Given the description of an element on the screen output the (x, y) to click on. 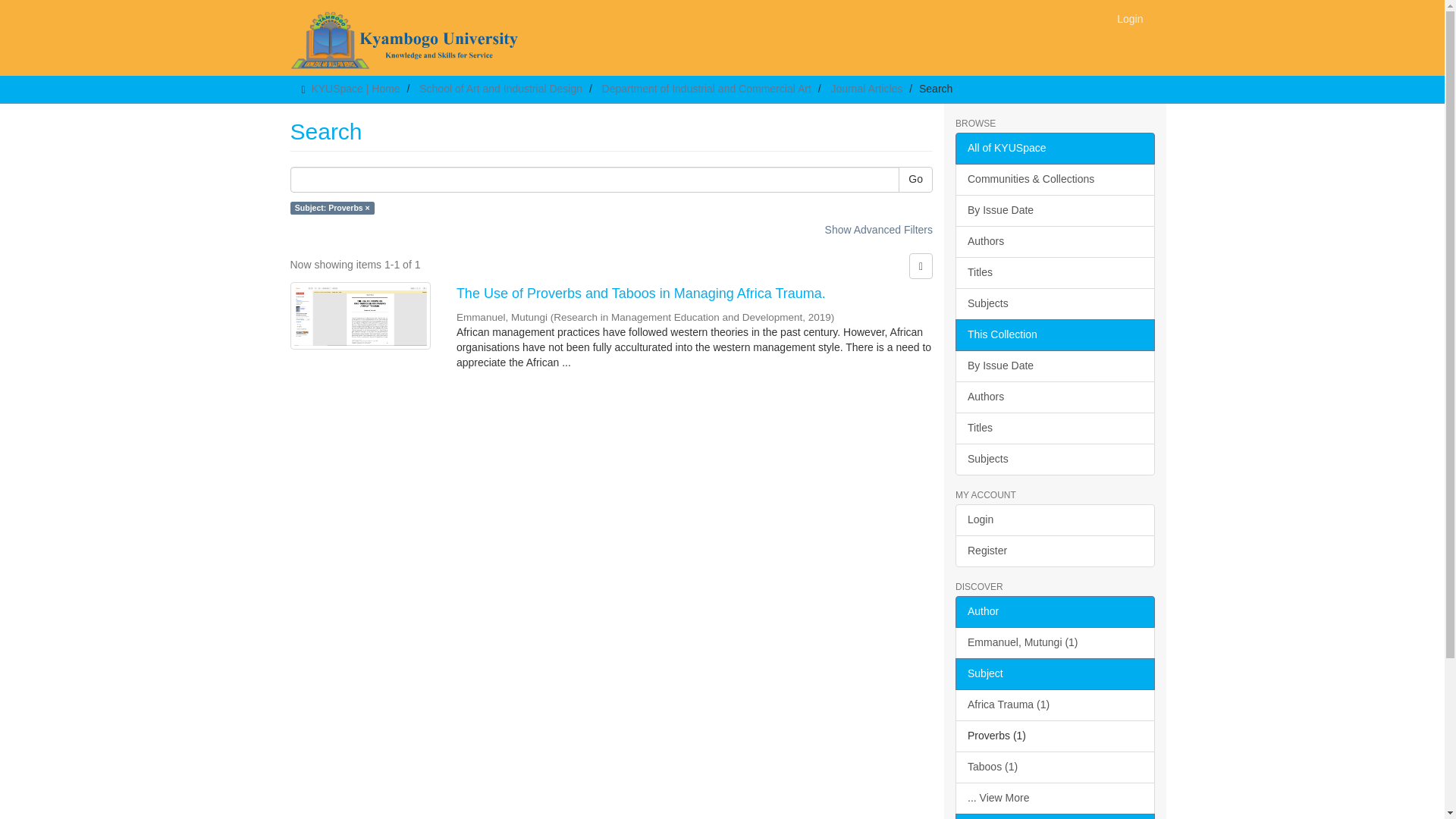
Show Advanced Filters (879, 229)
School of Art and Industrial Design (500, 88)
Login (1129, 18)
Department of Industrial and Commercial Art (706, 88)
Go (915, 179)
Journal Articles (865, 88)
The Use of Proverbs and Taboos in Managing Africa Trauma.  (695, 294)
